Given the description of an element on the screen output the (x, y) to click on. 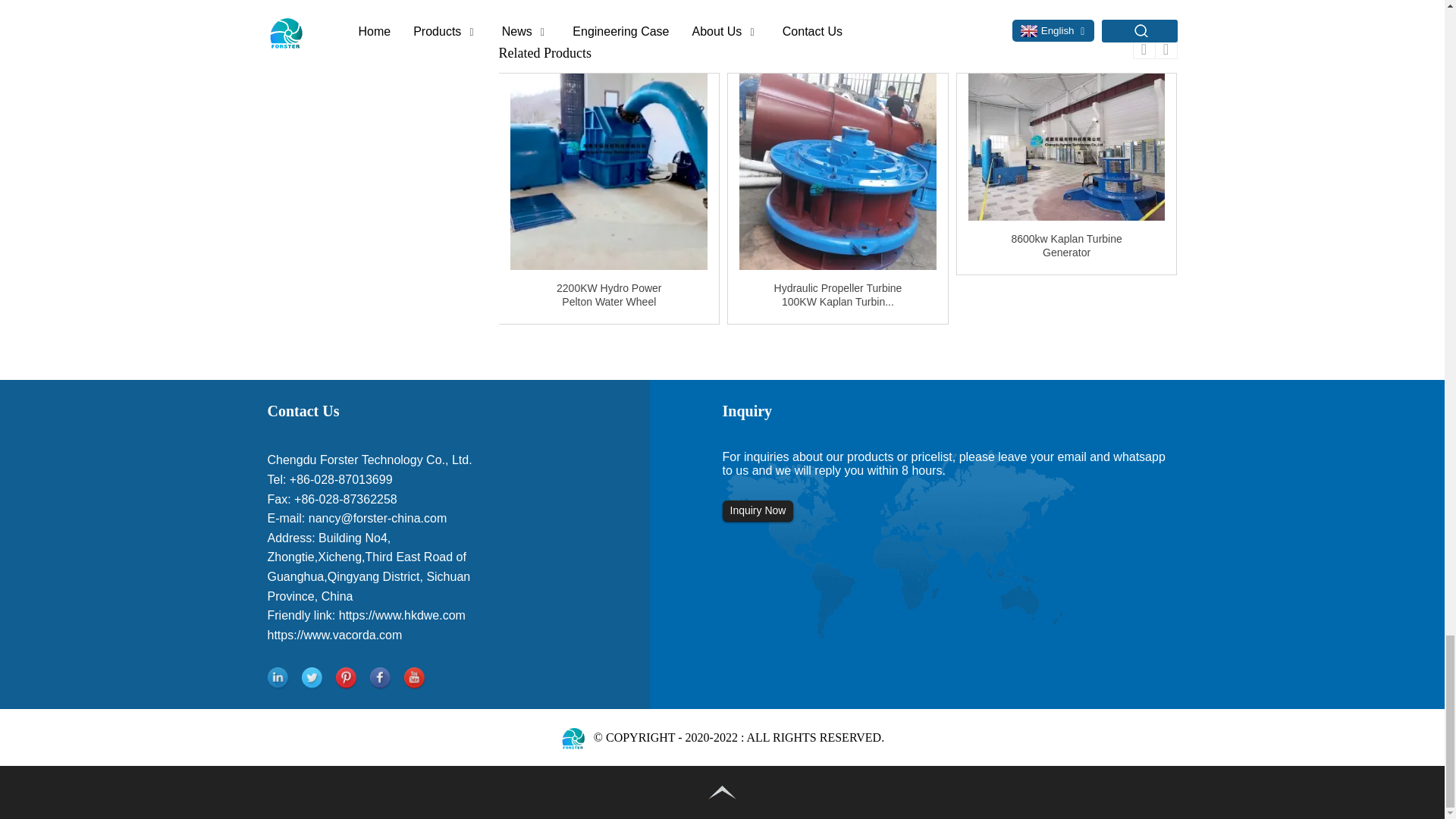
8600kw Kaplan Turbine Generator (1067, 147)
2200KW Hydro Power Pelton Water Wheel Turbine Generator (609, 172)
